Given the description of an element on the screen output the (x, y) to click on. 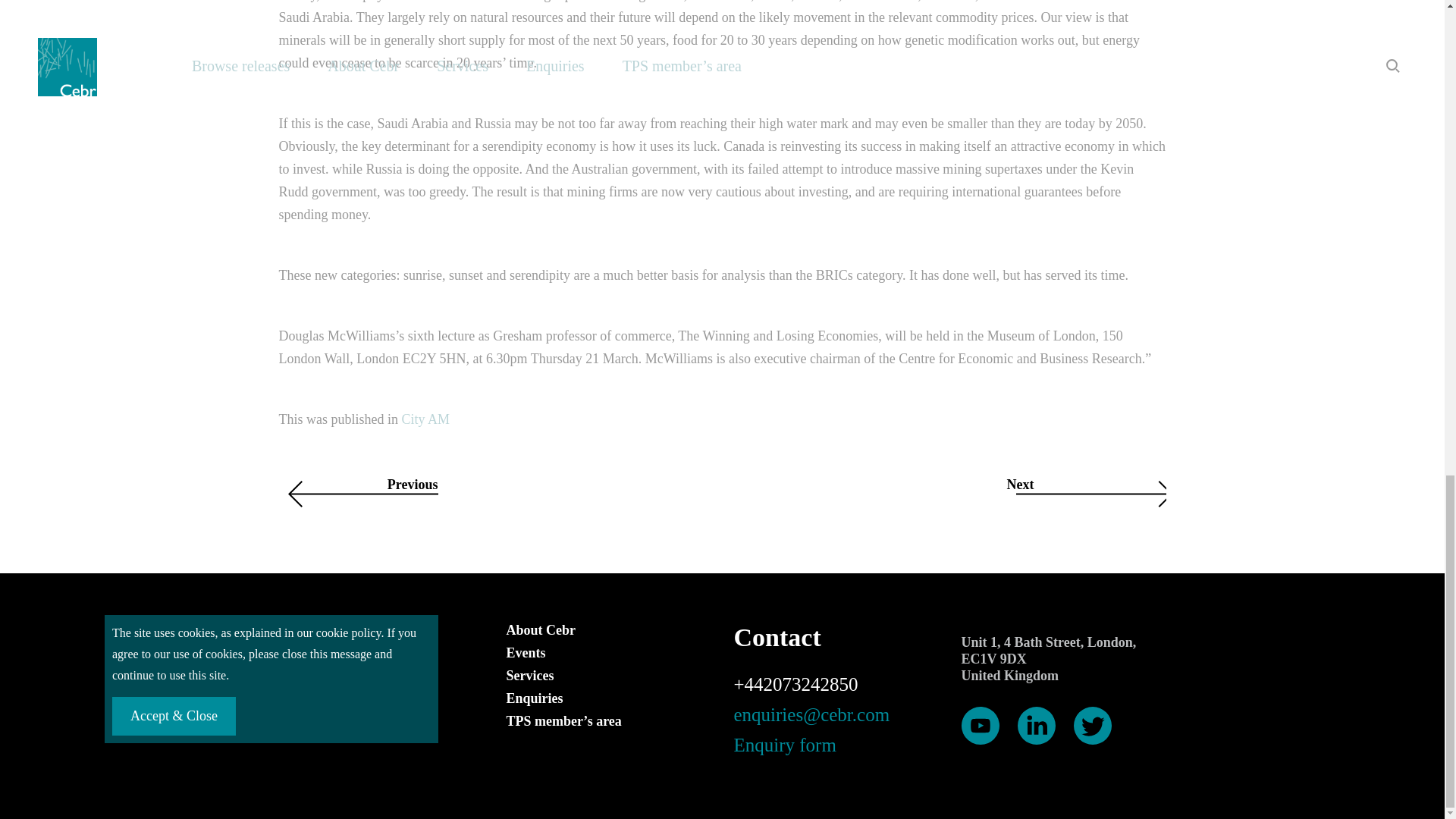
City AM (425, 418)
Next (949, 493)
Previous (495, 493)
